Given the description of an element on the screen output the (x, y) to click on. 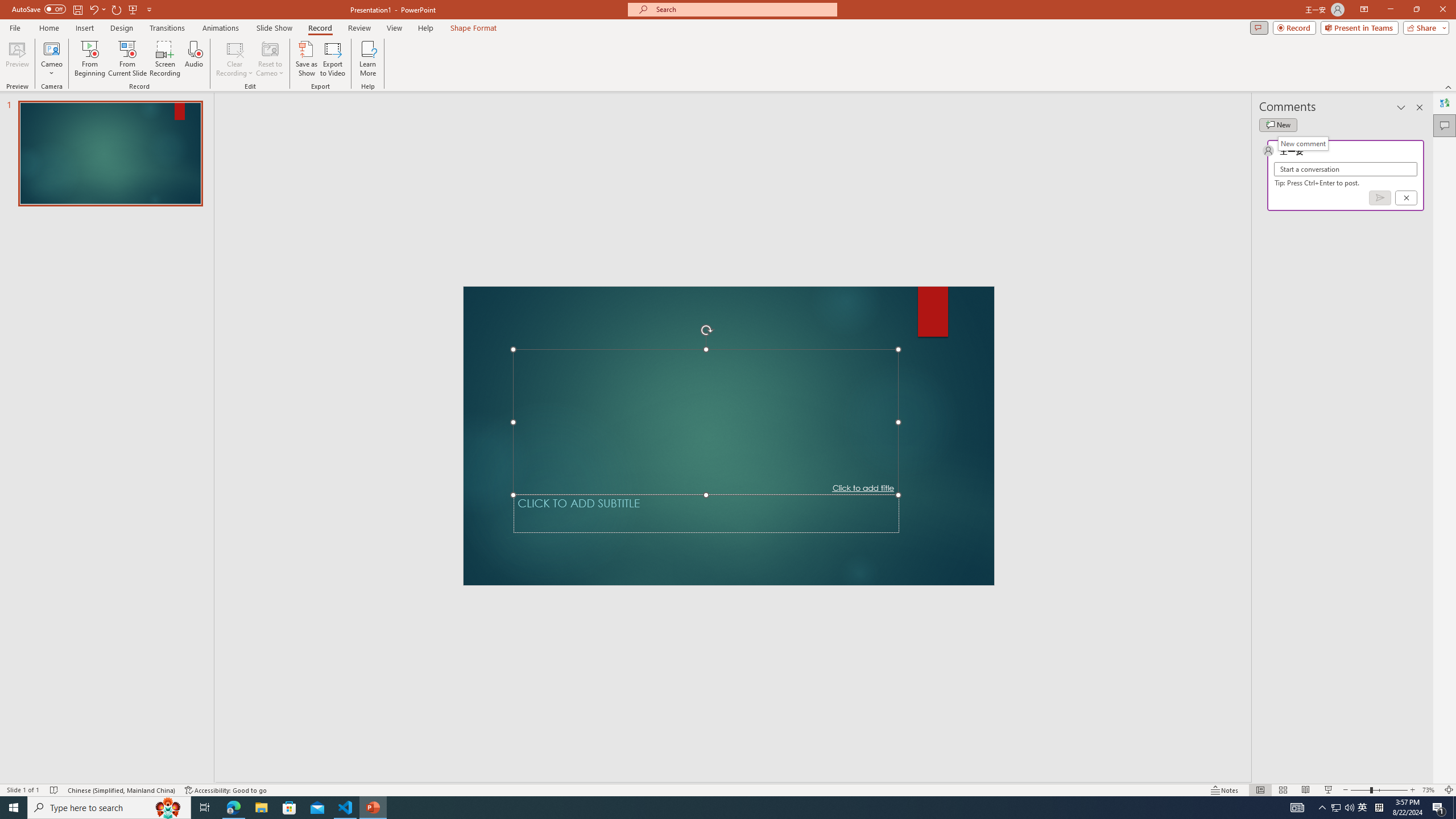
Start a conversation (1344, 168)
